Given the description of an element on the screen output the (x, y) to click on. 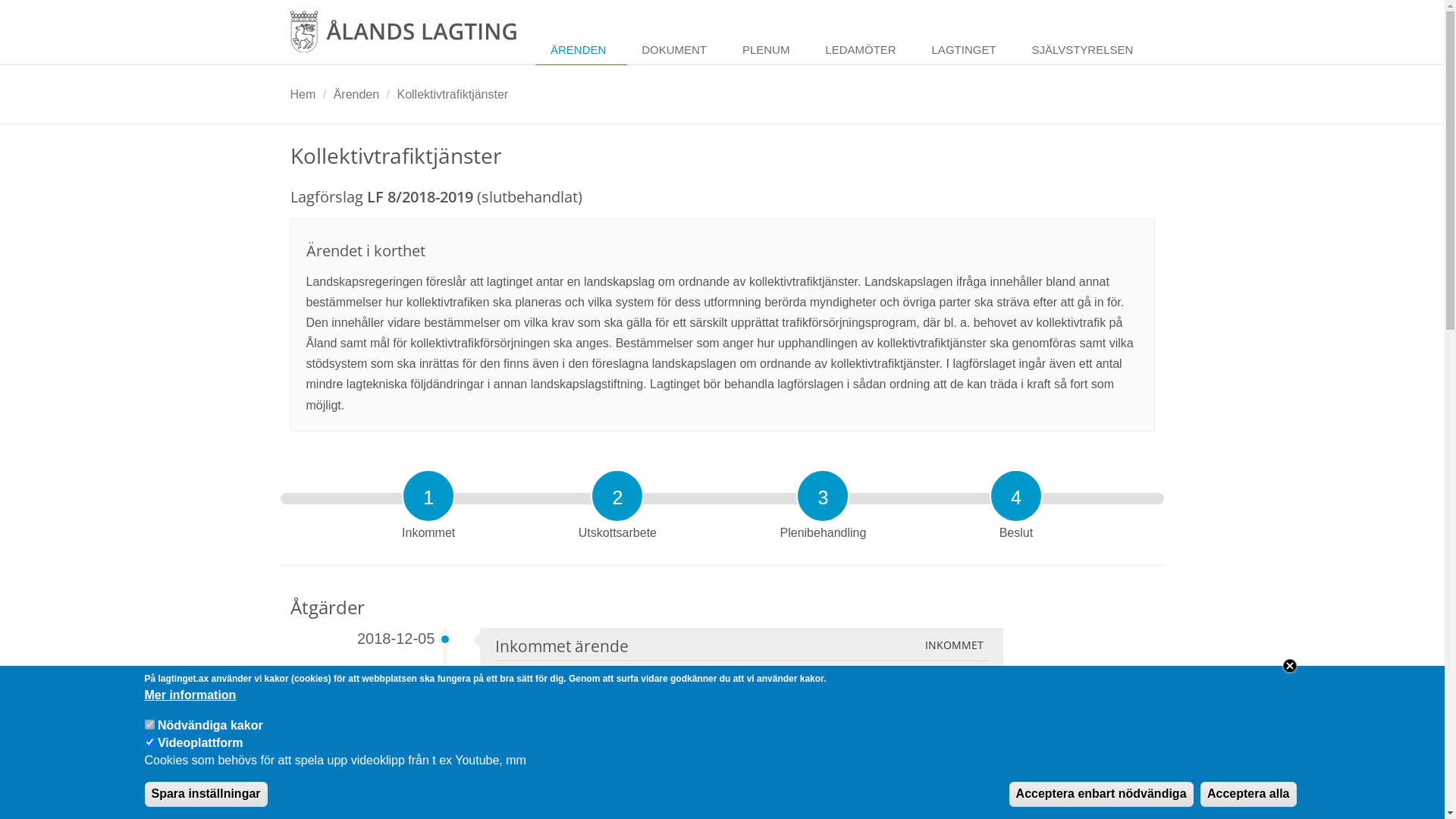
Hem Element type: text (302, 93)
LAGTINGET Element type: text (967, 49)
Acceptera alla Element type: text (1248, 793)
3 Element type: text (822, 495)
2 Element type: text (616, 495)
1 Element type: text (428, 495)
PLENUM Element type: text (769, 49)
DOKUMENT Element type: text (677, 49)
4 Element type: text (1015, 495)
Mer information Element type: text (189, 695)
Close Element type: text (1289, 665)
